Given the description of an element on the screen output the (x, y) to click on. 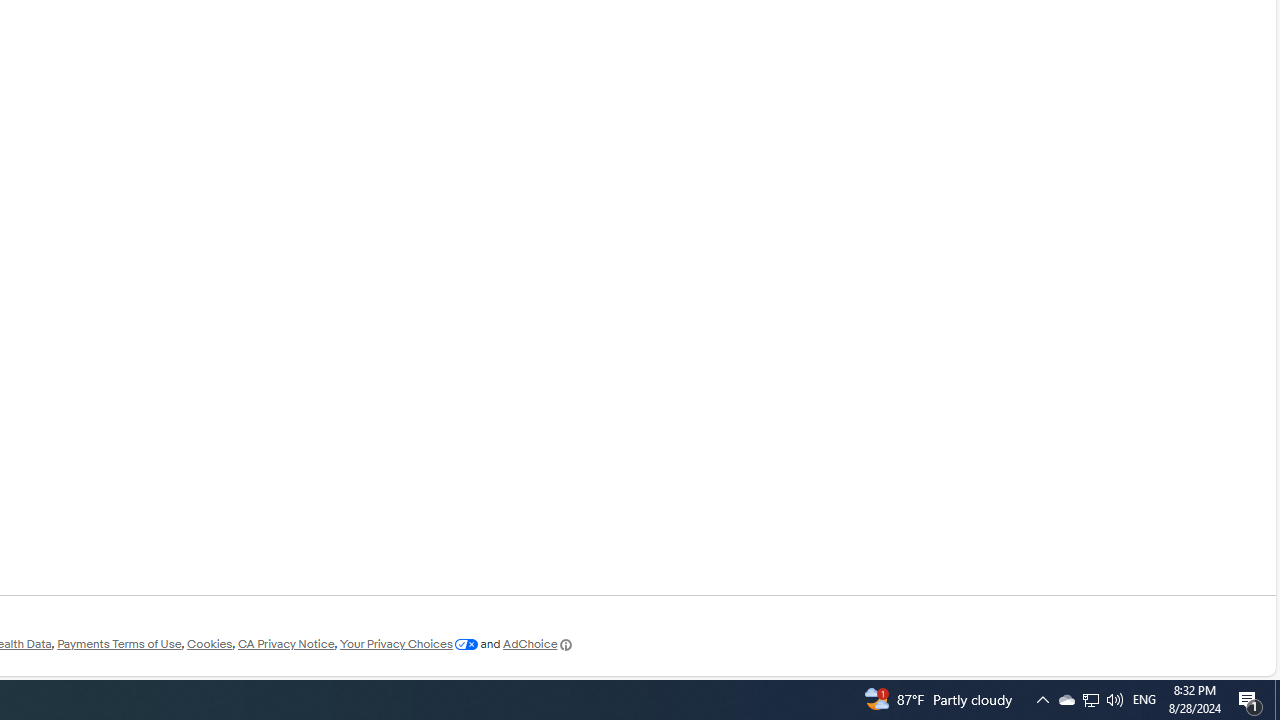
CA Privacy Notice (285, 644)
Cookies (209, 644)
AdChoice (538, 644)
Your Privacy Choices (408, 644)
Payments Terms of Use (119, 644)
